Given the description of an element on the screen output the (x, y) to click on. 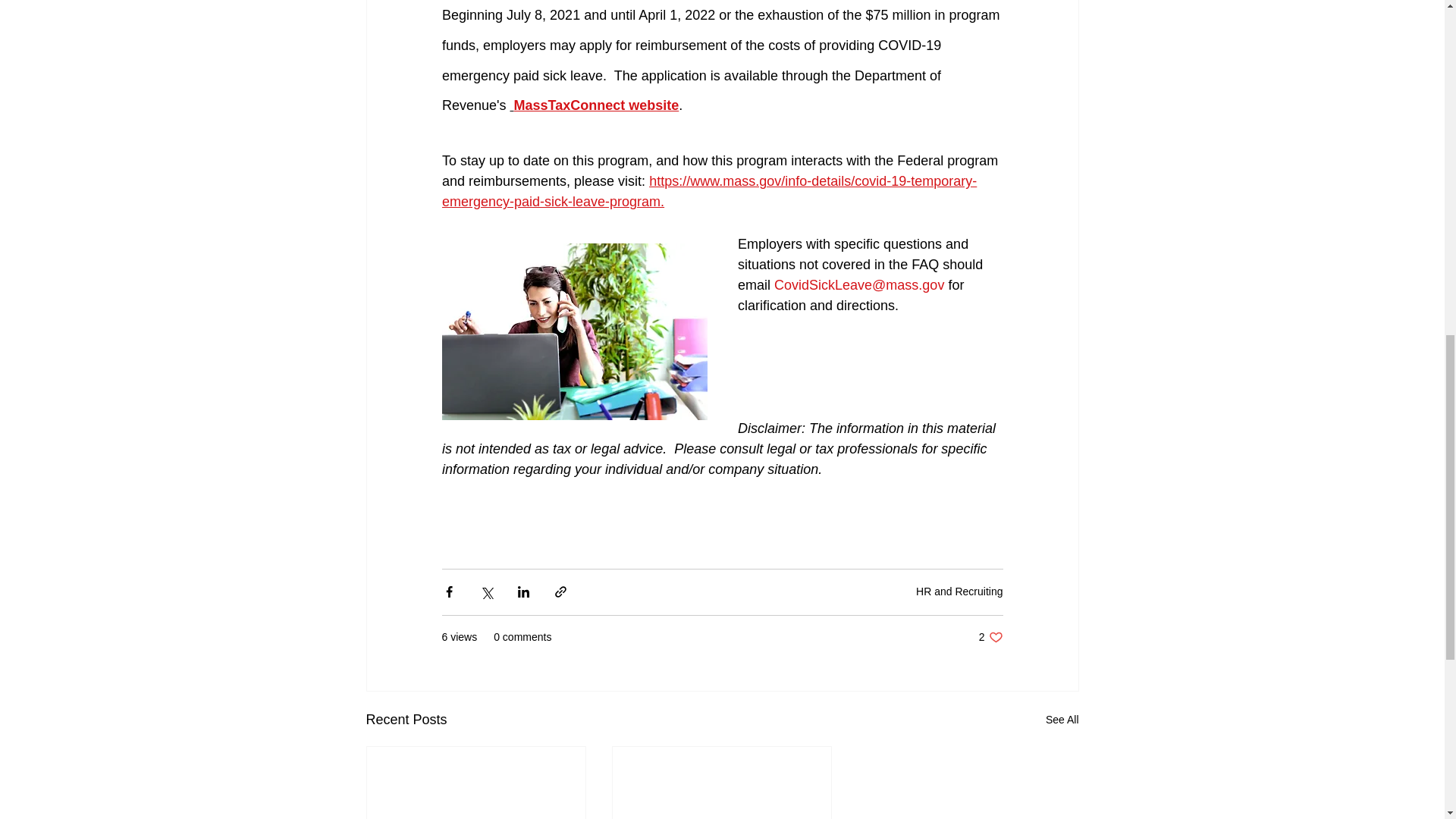
MassTaxConnect website (595, 105)
HR and Recruiting (959, 591)
See All (1061, 720)
